Given the description of an element on the screen output the (x, y) to click on. 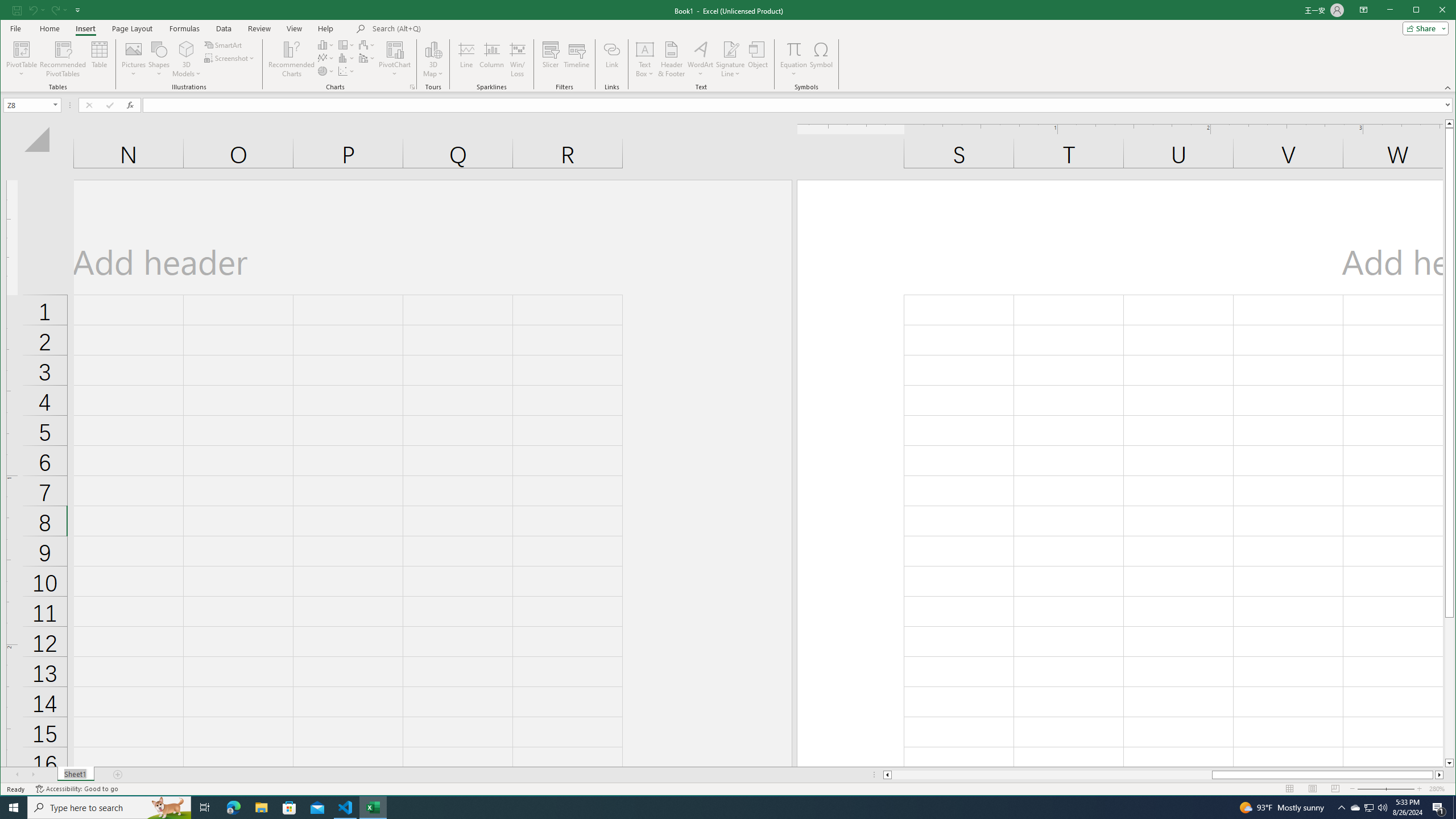
3D Map (432, 59)
3D Models (186, 59)
Pictures (133, 59)
Screenshot (229, 57)
Insert Line or Area Chart (325, 57)
Notification Chevron (1341, 807)
Insert Statistic Chart (346, 57)
